Given the description of an element on the screen output the (x, y) to click on. 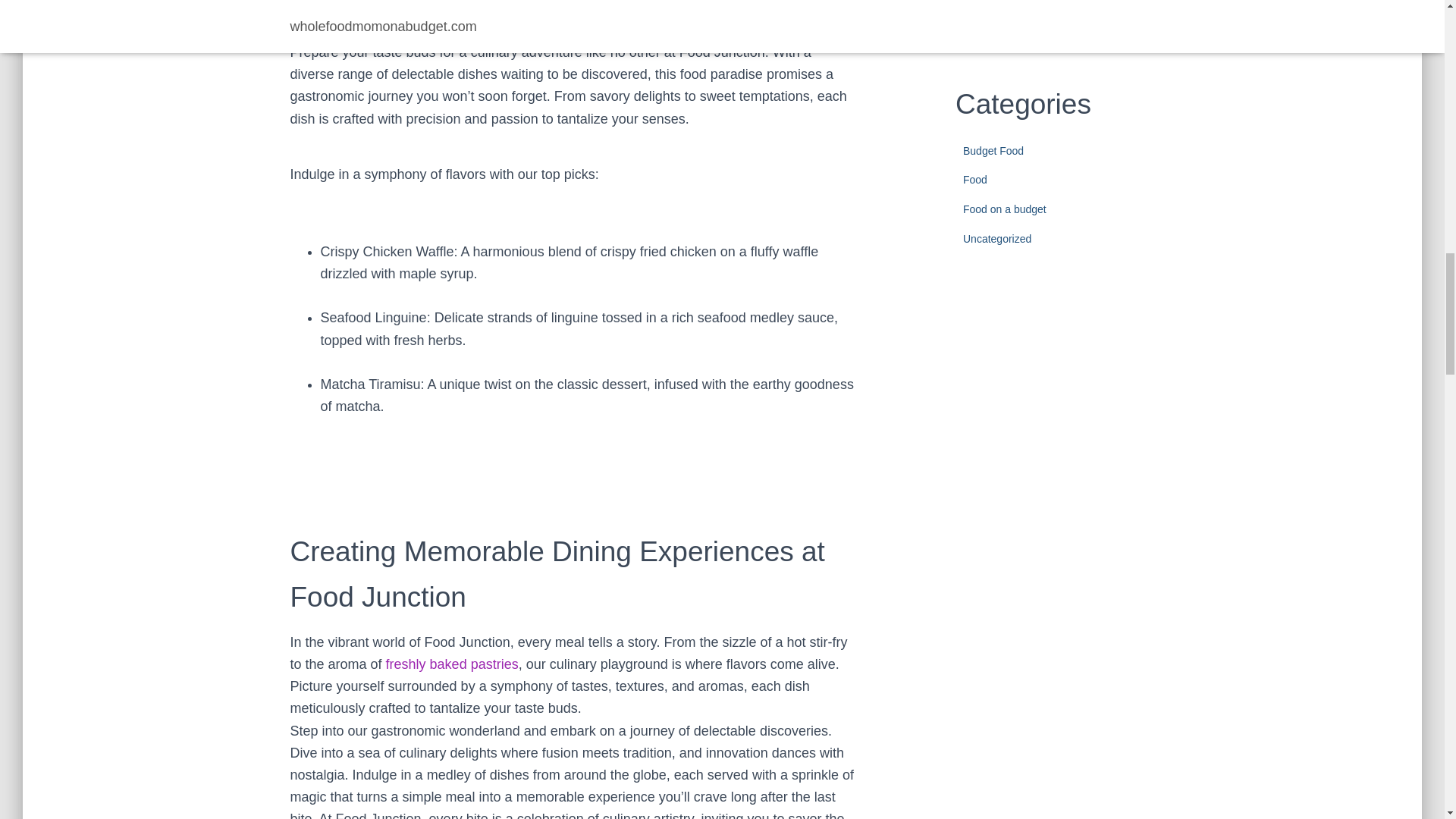
budget food leuven (451, 663)
freshly baked pastries (451, 663)
